Given the description of an element on the screen output the (x, y) to click on. 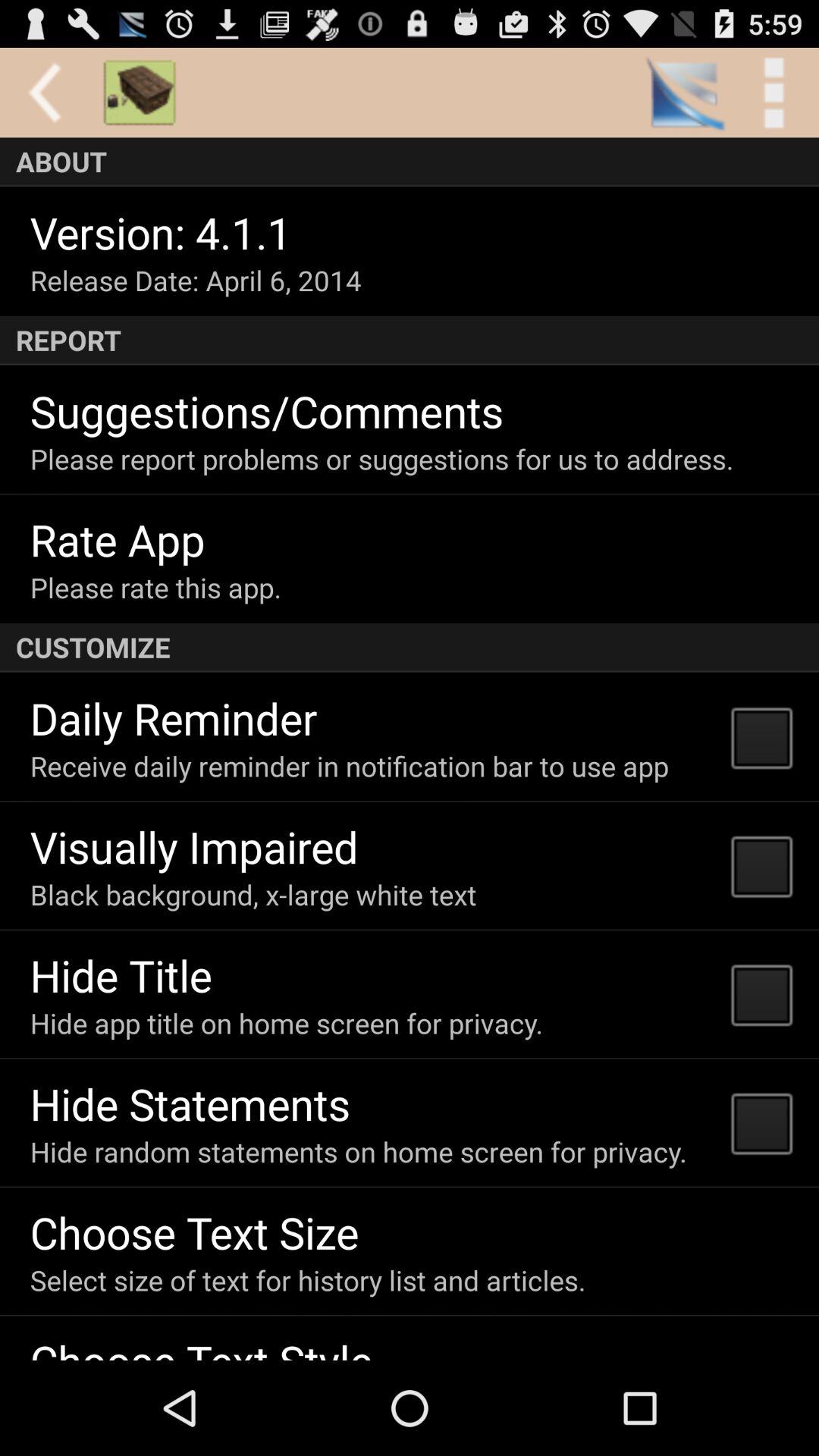
tap the app above the about item (774, 92)
